Given the description of an element on the screen output the (x, y) to click on. 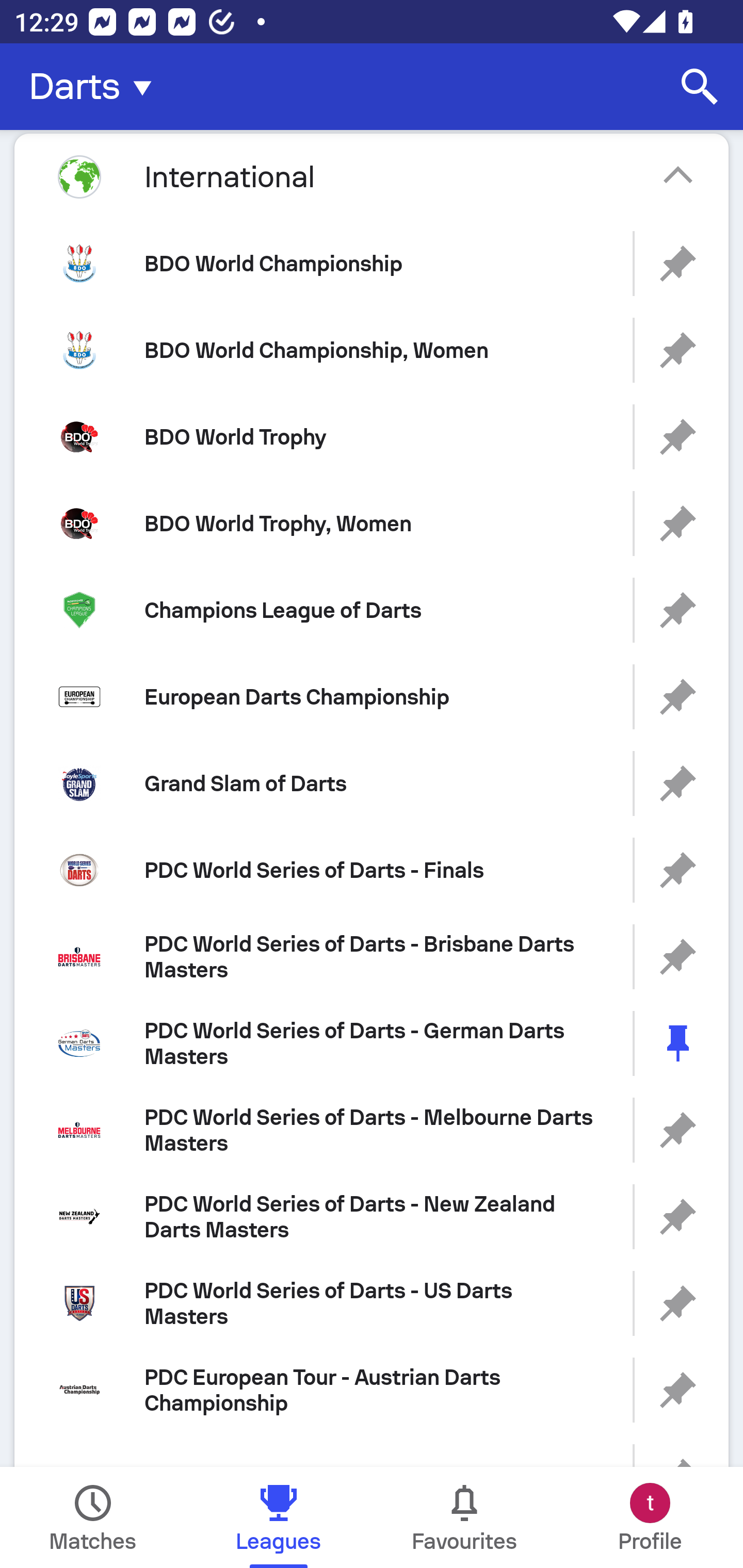
Darts (96, 86)
Search (699, 86)
International (371, 176)
BDO World Championship (371, 263)
BDO World Championship, Women (371, 350)
BDO World Trophy (371, 436)
BDO World Trophy, Women (371, 523)
Champions League of Darts (371, 610)
European Darts Championship (371, 696)
Grand Slam of Darts (371, 783)
PDC World Series of Darts - Finals (371, 870)
PDC World Series of Darts - Brisbane Darts Masters (371, 957)
PDC World Series of Darts - German Darts Masters (371, 1043)
PDC World Series of Darts - US Darts Masters (371, 1303)
PDC European Tour - Austrian Darts Championship (371, 1389)
Matches (92, 1517)
Favourites (464, 1517)
Profile (650, 1517)
